Given the description of an element on the screen output the (x, y) to click on. 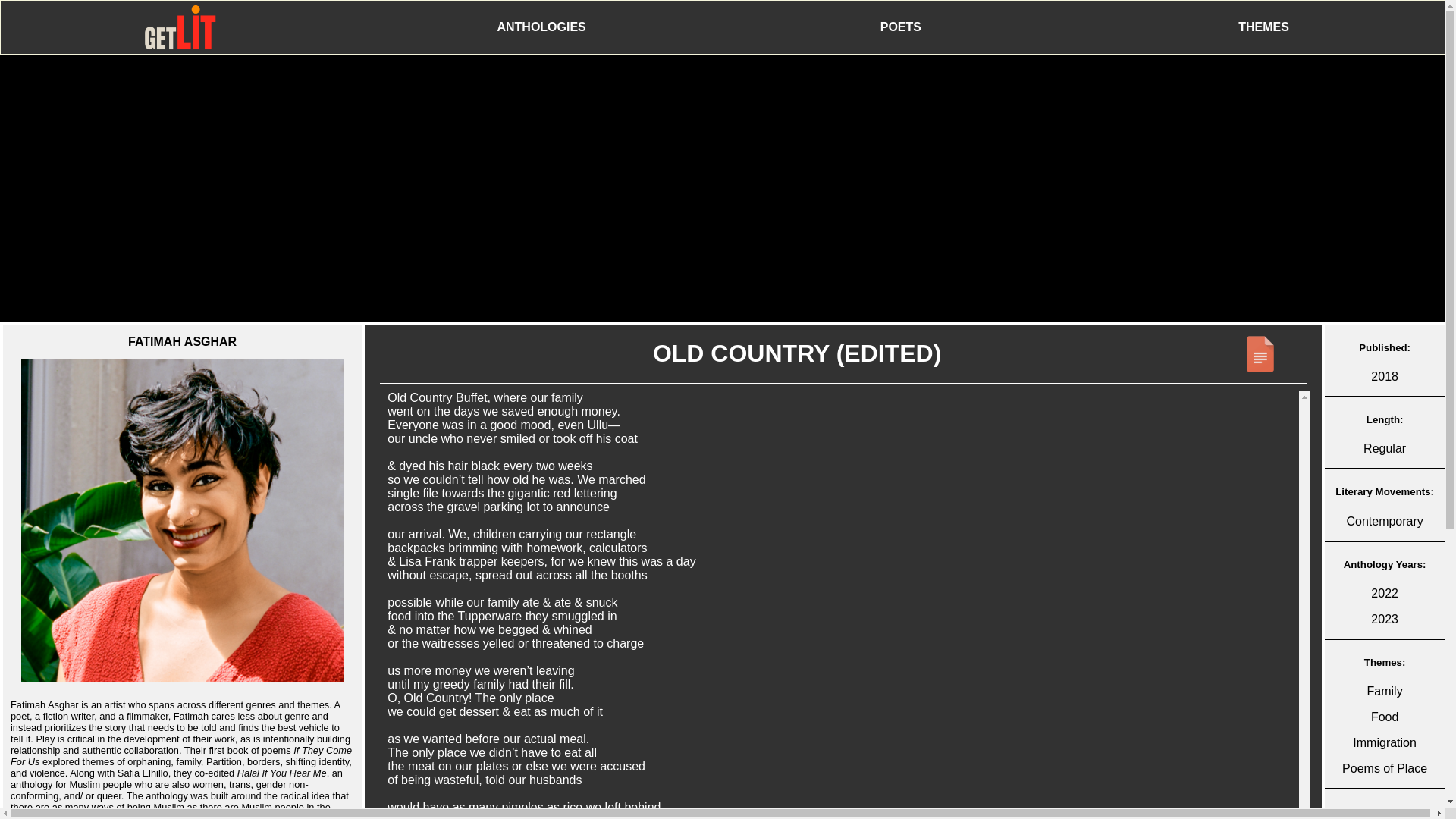
POETS (900, 27)
FATIMAH ASGHAR (181, 502)
ANTHOLOGIES (541, 27)
THEMES (1263, 27)
